Given the description of an element on the screen output the (x, y) to click on. 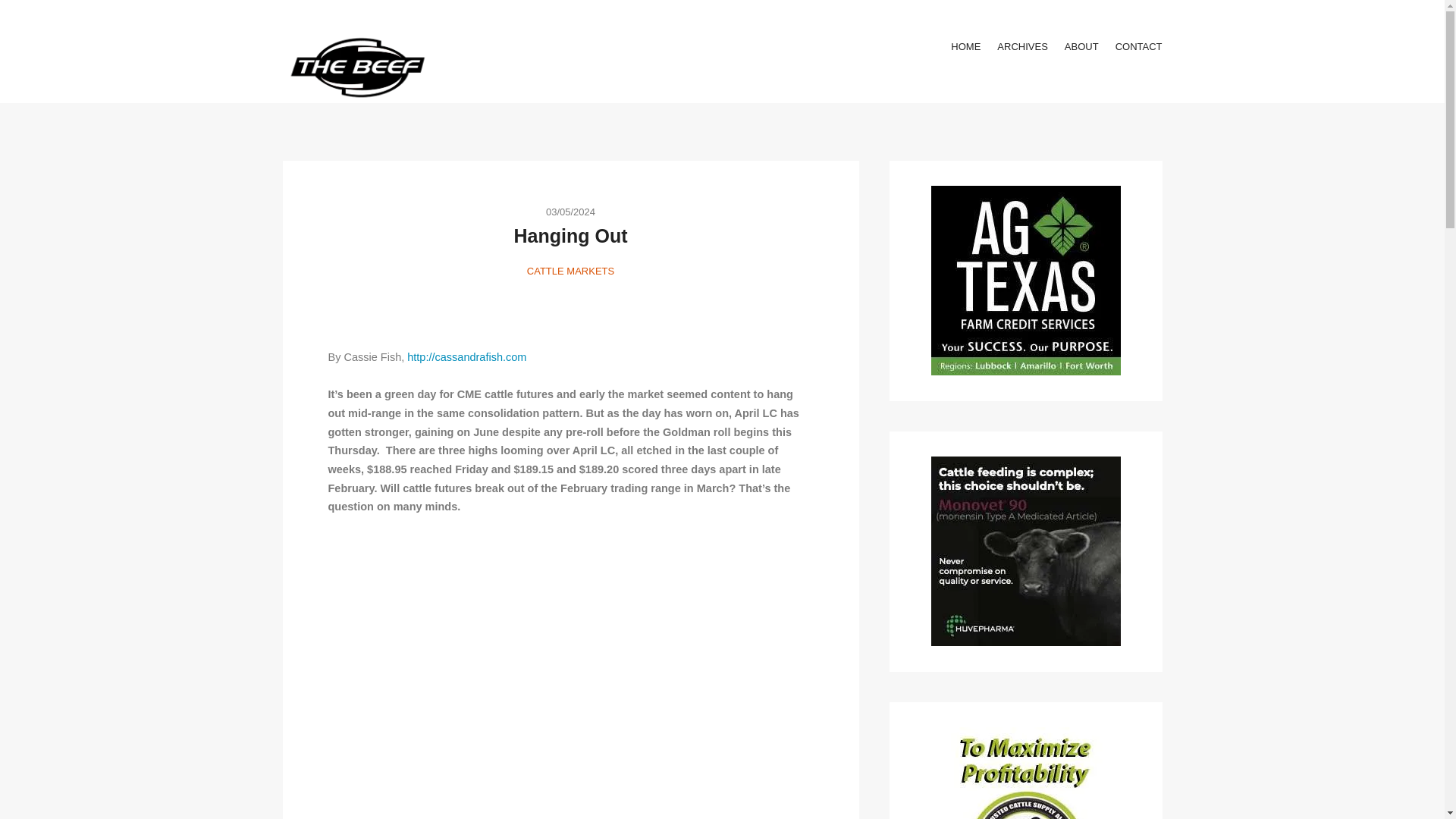
ABOUT (1081, 45)
CONTACT (1138, 45)
ARCHIVES (1021, 45)
The Beef -  (357, 67)
CATTLE MARKETS (570, 270)
HOME (964, 45)
